Given the description of an element on the screen output the (x, y) to click on. 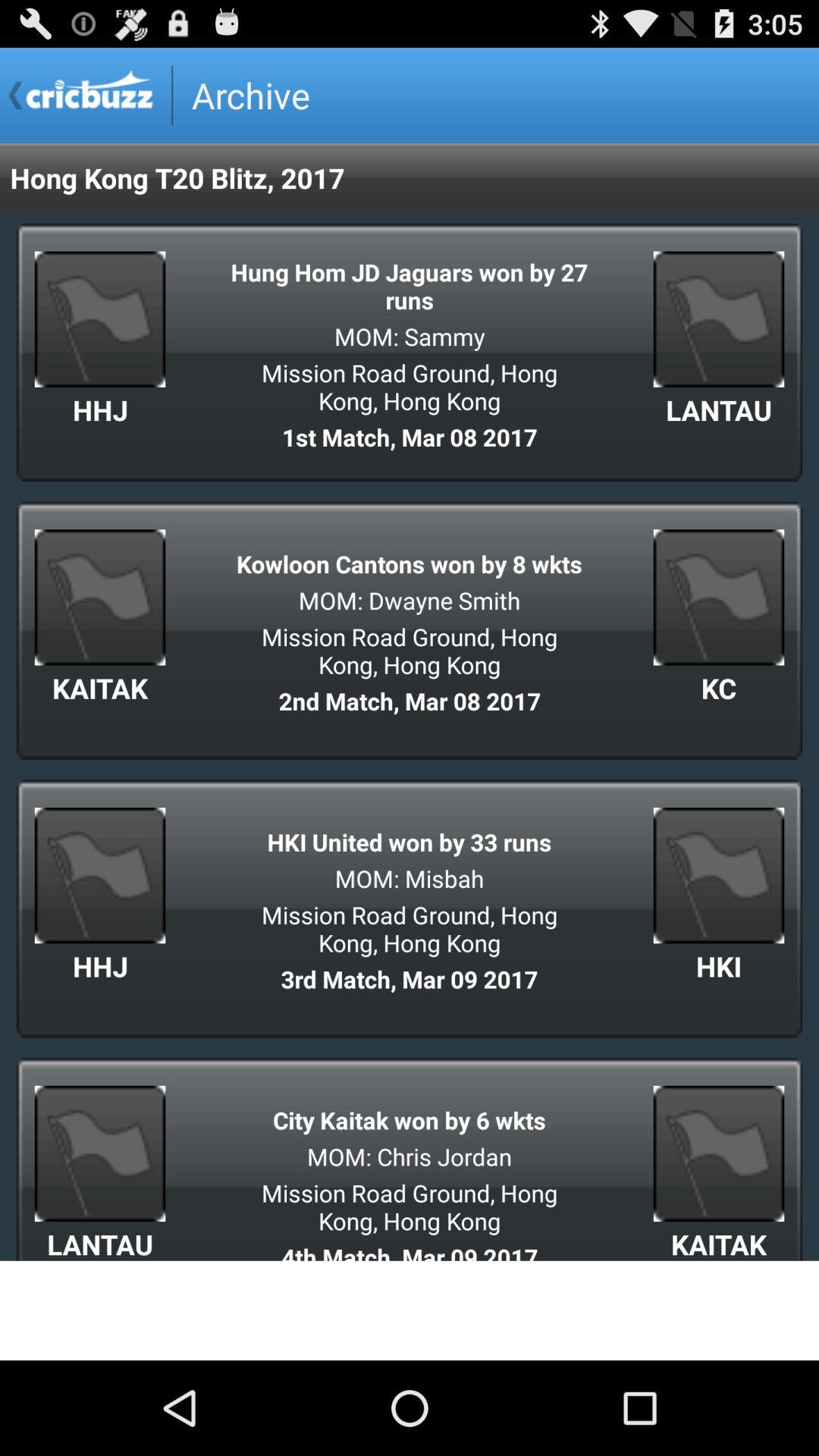
tap icon below 1st match mar app (409, 563)
